Given the description of an element on the screen output the (x, y) to click on. 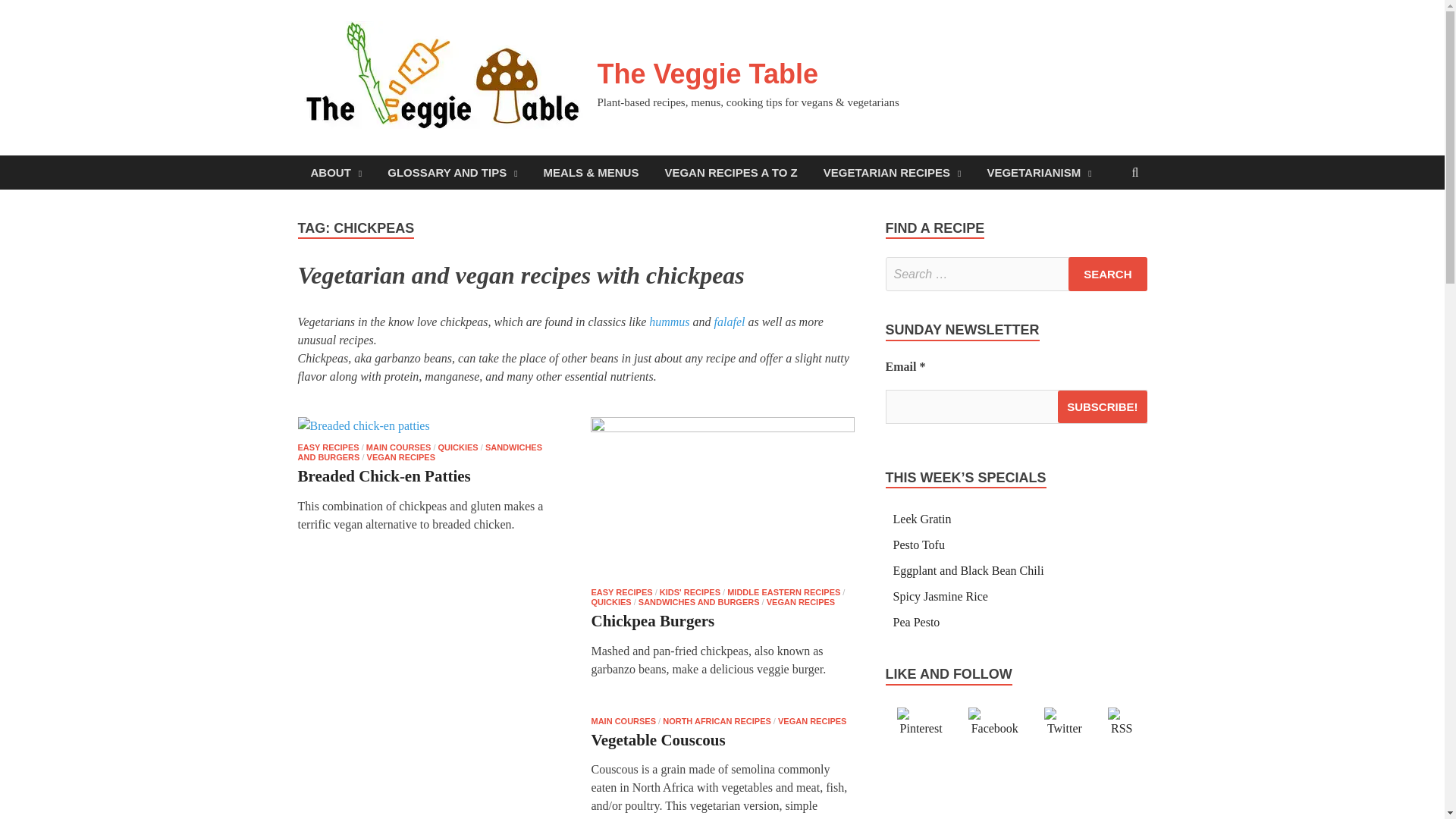
Search (1107, 274)
ABOUT (335, 172)
Curry Burgers (428, 767)
Email (1016, 406)
Search (1107, 274)
Breaded Chick-en Patties (428, 429)
VEGETARIANISM (1038, 172)
GLOSSARY AND TIPS (451, 172)
Subscribe! (1102, 406)
The Veggie Table (707, 73)
VEGAN RECIPES A TO Z (729, 172)
Chickpea Burgers (722, 502)
VEGETARIAN RECIPES (892, 172)
